Given the description of an element on the screen output the (x, y) to click on. 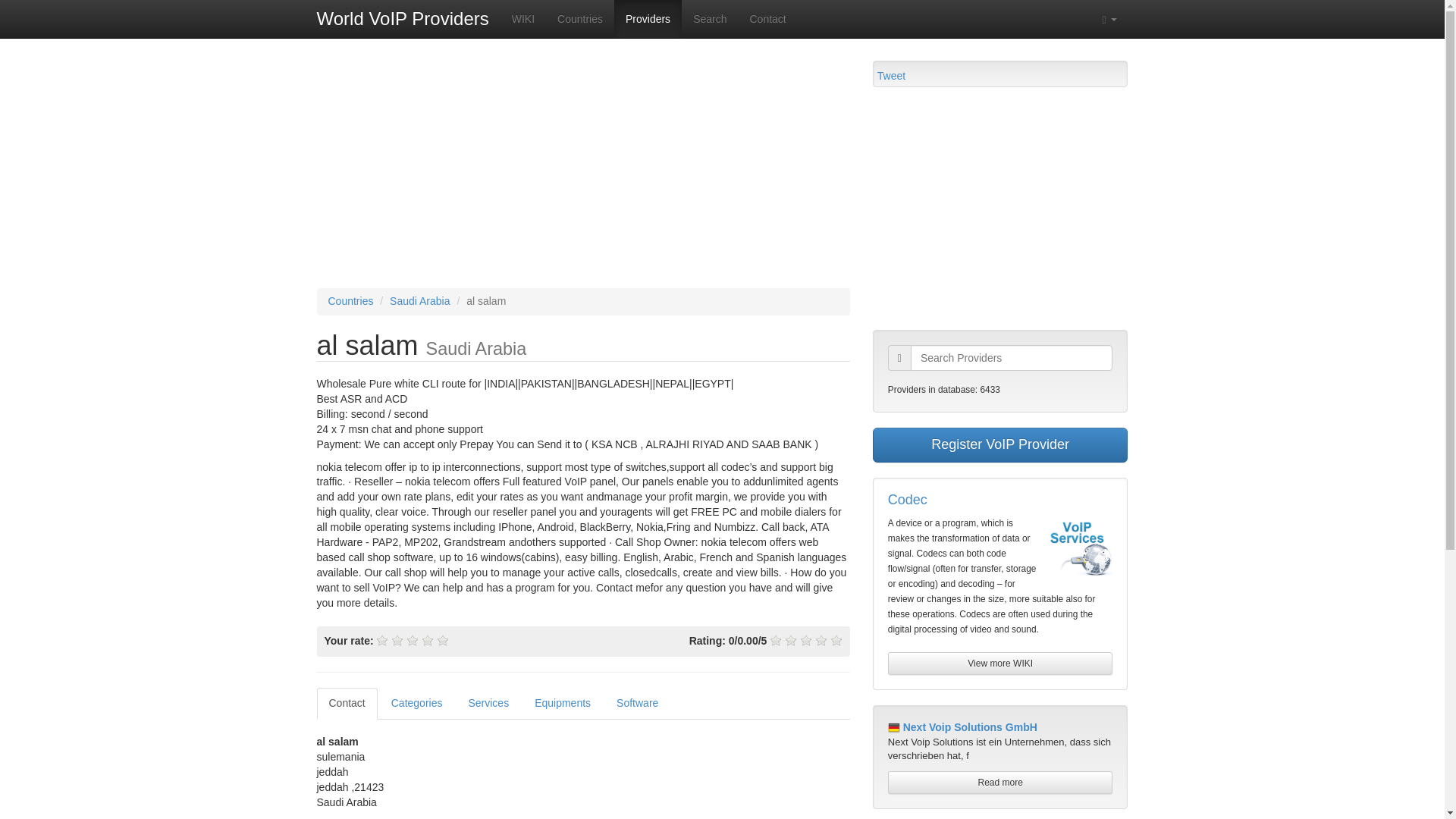
Equipments (562, 703)
Contact (767, 18)
5 (442, 640)
WIKI (523, 18)
Not rated yet! (821, 640)
3 (412, 640)
Read more (1000, 782)
Register VoIP Provider (1000, 444)
Providers (647, 18)
2 (397, 640)
Contact (347, 703)
Codec (907, 499)
Categories (416, 703)
Advertisement (1000, 208)
View more WIKI (1000, 662)
